Given the description of an element on the screen output the (x, y) to click on. 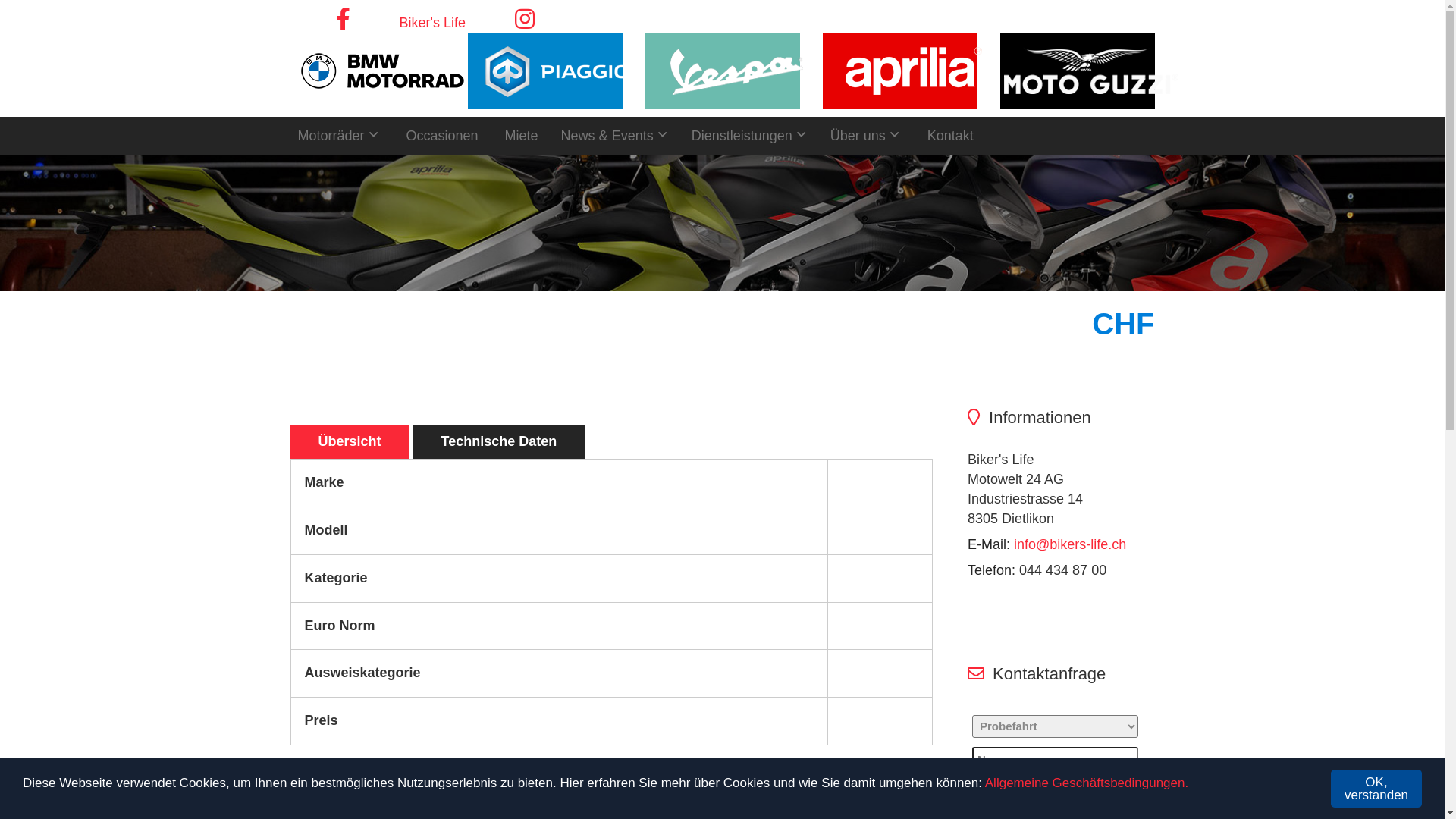
Occasionen Element type: text (442, 135)
Miete Element type: text (521, 135)
Kontakt Element type: text (950, 135)
Biker's Life Element type: text (432, 22)
OK, verstanden Element type: text (1375, 788)
info@bikers-life.ch Element type: text (1069, 544)
Technische Daten Element type: text (499, 441)
News & Events Element type: text (616, 133)
Dienstleistungen Element type: text (751, 133)
